Given the description of an element on the screen output the (x, y) to click on. 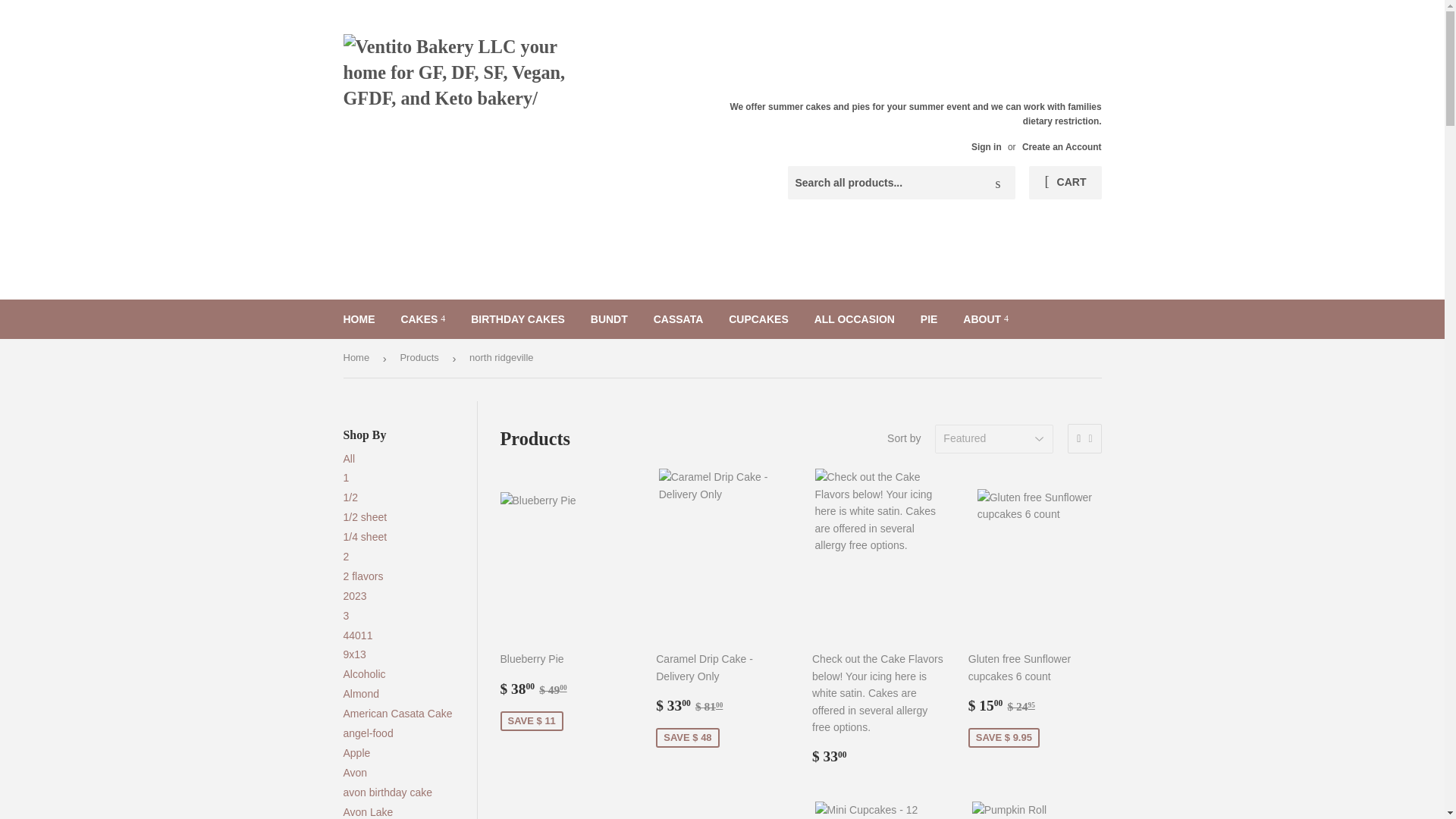
CUPCAKES (758, 319)
Show products matching tag avon birthday cake (387, 792)
PIE (928, 319)
Show products matching tag 2 flavors (362, 576)
Show products matching tag American Casata Cake (396, 713)
HOME (359, 319)
Show products matching tag 44011 (357, 635)
Show products matching tag Almond (360, 693)
ALL OCCASION (854, 319)
